Given the description of an element on the screen output the (x, y) to click on. 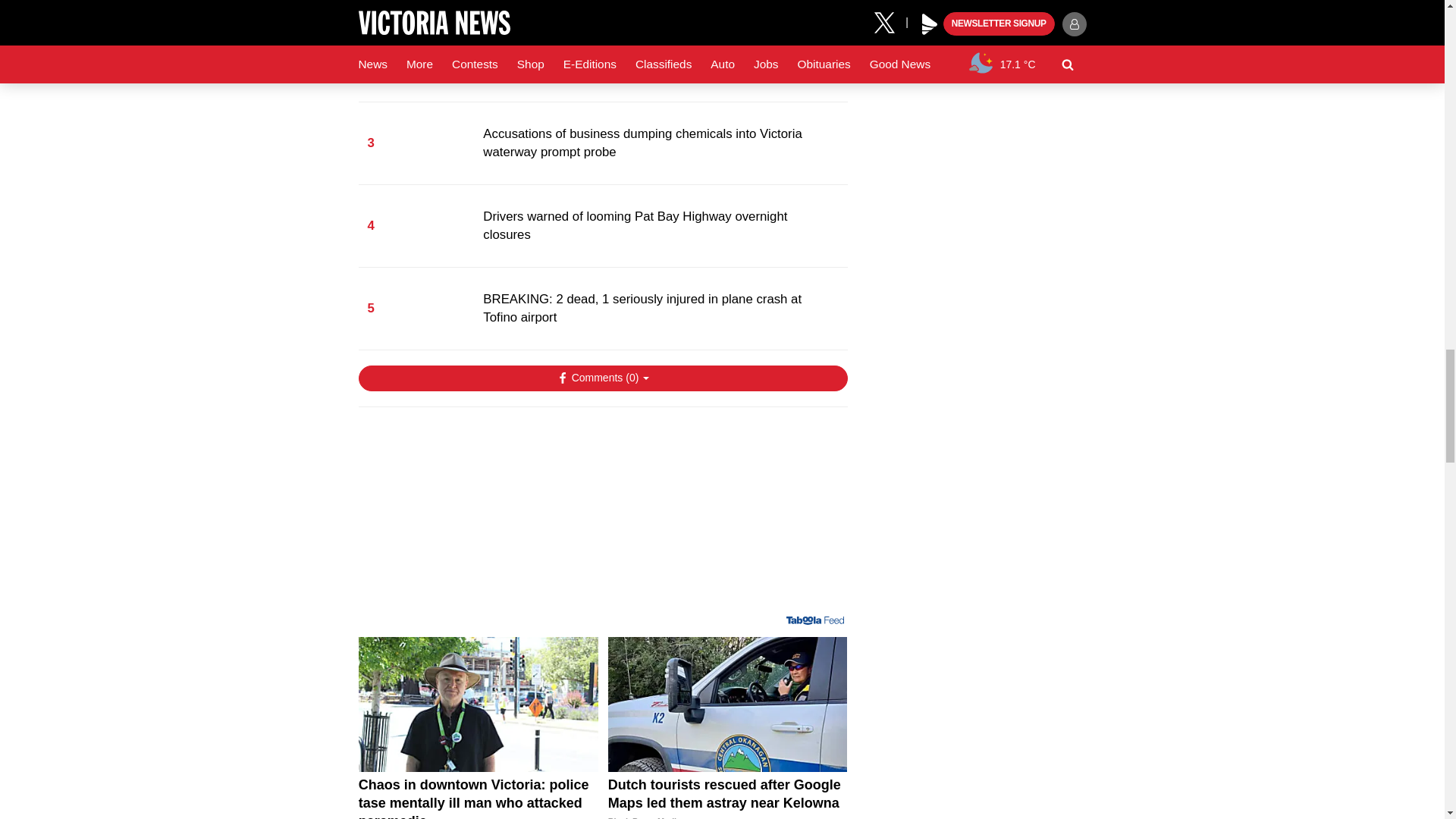
3rd party ad content (602, 516)
Show Comments (602, 378)
